Given the description of an element on the screen output the (x, y) to click on. 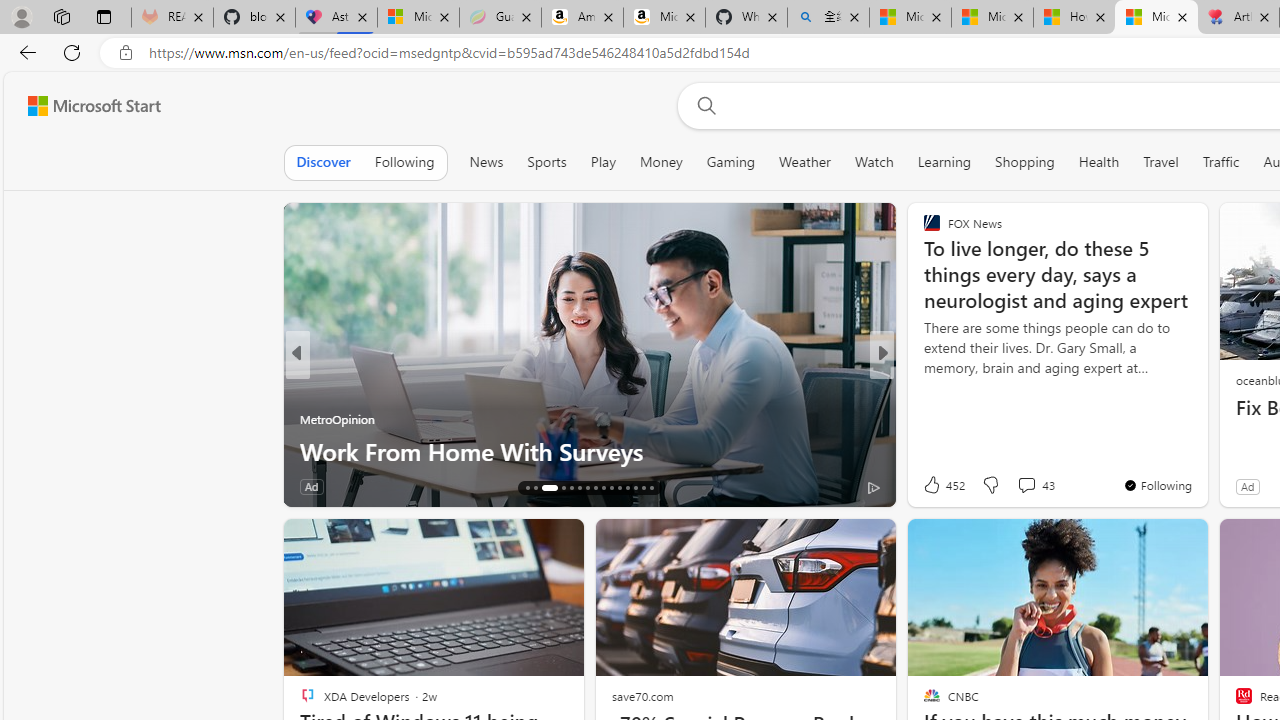
AutomationID: tab-27 (627, 487)
View comments 197 Comment (1019, 485)
8 Like (930, 486)
Skip to footer (82, 105)
Travel (1160, 162)
237 Like (936, 486)
Play (602, 161)
View comments 3 Comment (1013, 486)
Traffic (1220, 161)
How I Got Rid of Microsoft Edge's Unnecessary Features (1074, 17)
